Given the description of an element on the screen output the (x, y) to click on. 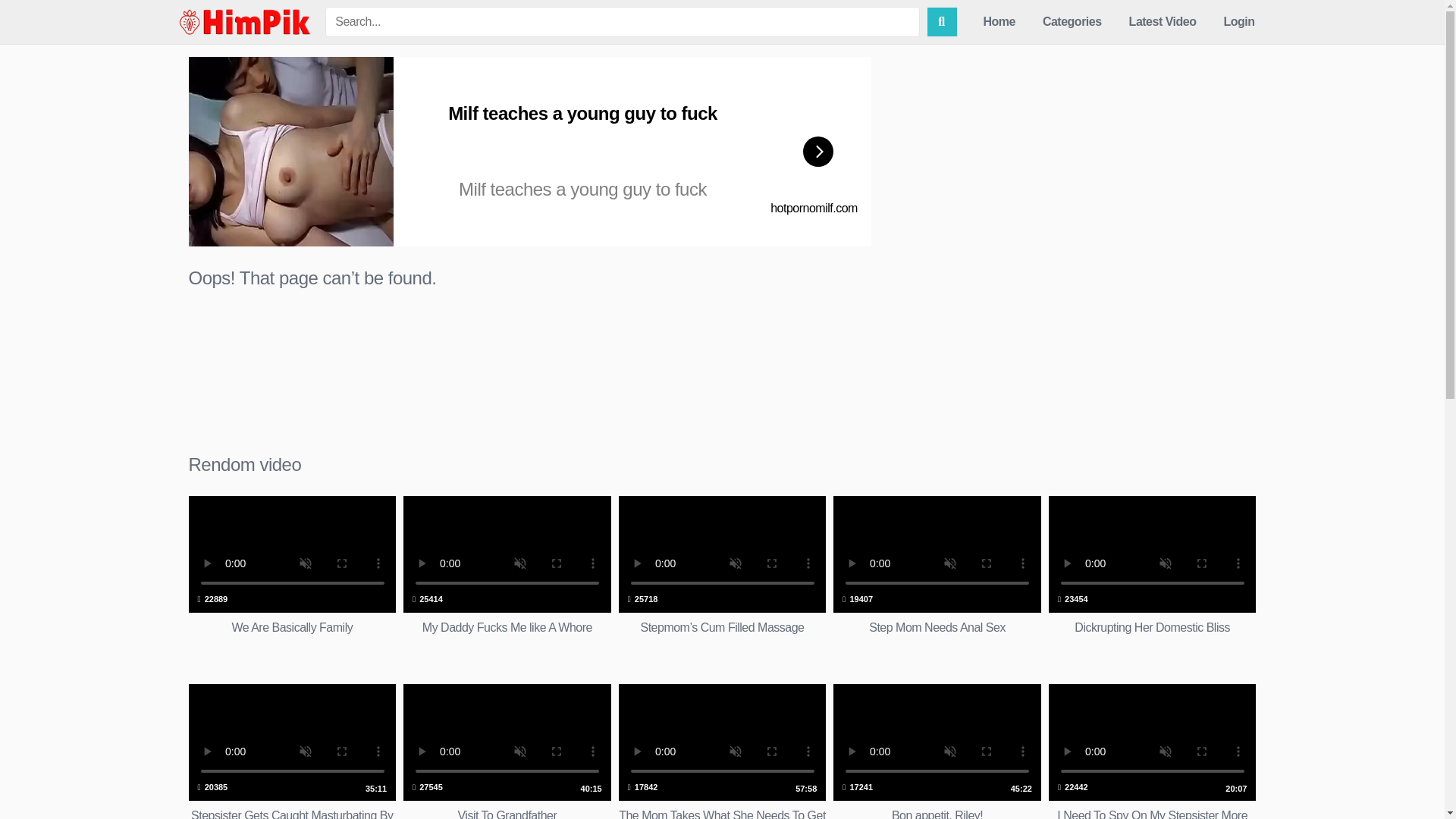
I Need To Spy On My Stepsister More Often (1152, 751)
HimPik (507, 751)
My Daddy Fucks Me like A Whore (936, 751)
Stepsister Gets Caught Masturbating By Her Stepbrother (244, 21)
Dickrupting Her Domestic Bliss (1152, 751)
Step Mom Needs Anal Sex (507, 575)
Login (291, 751)
